Given the description of an element on the screen output the (x, y) to click on. 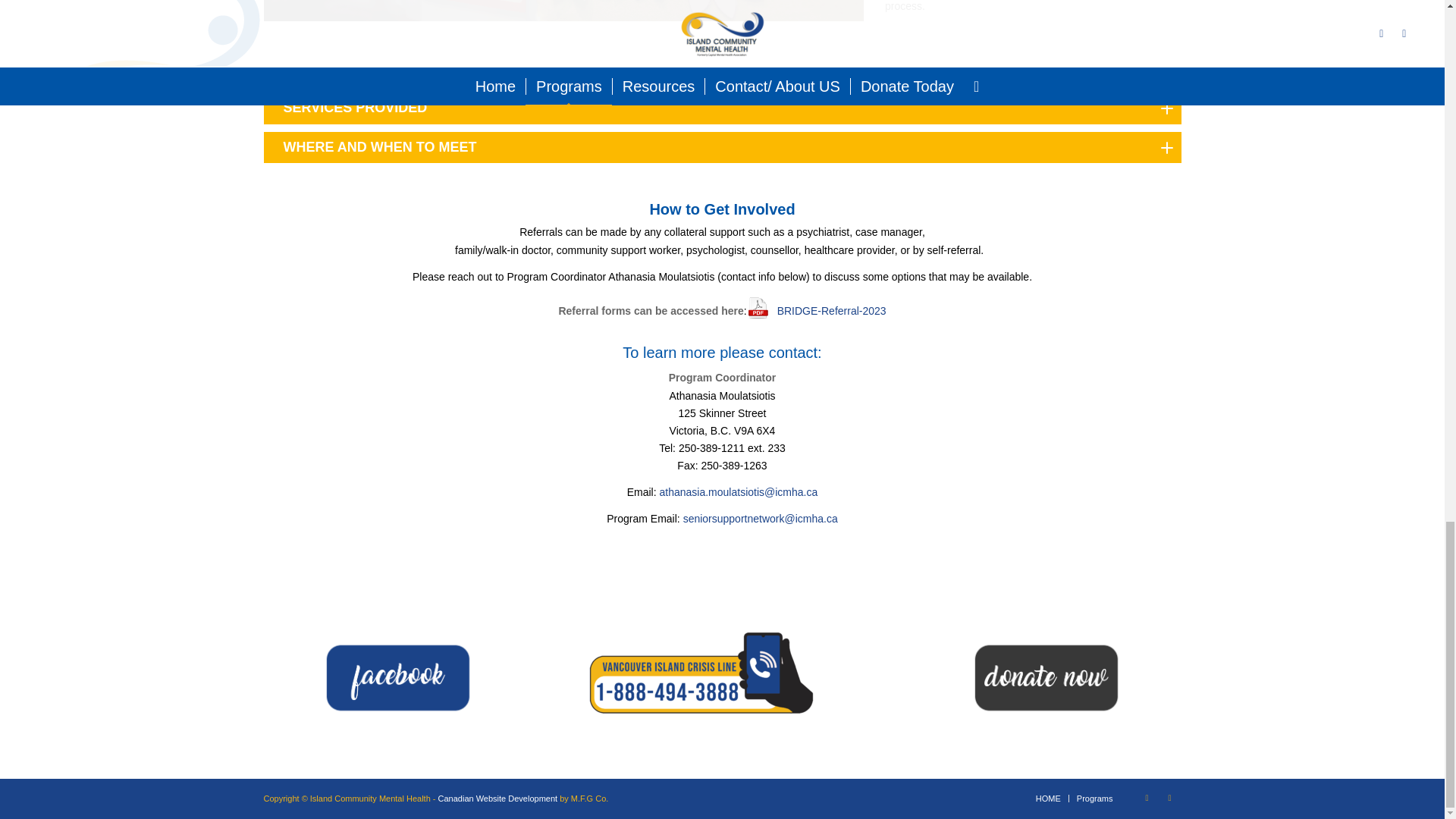
Canadian Website Development (497, 798)
BRIDGE-Referral-2023 (816, 307)
Facebook (1169, 797)
Twitter (1146, 797)
